Given the description of an element on the screen output the (x, y) to click on. 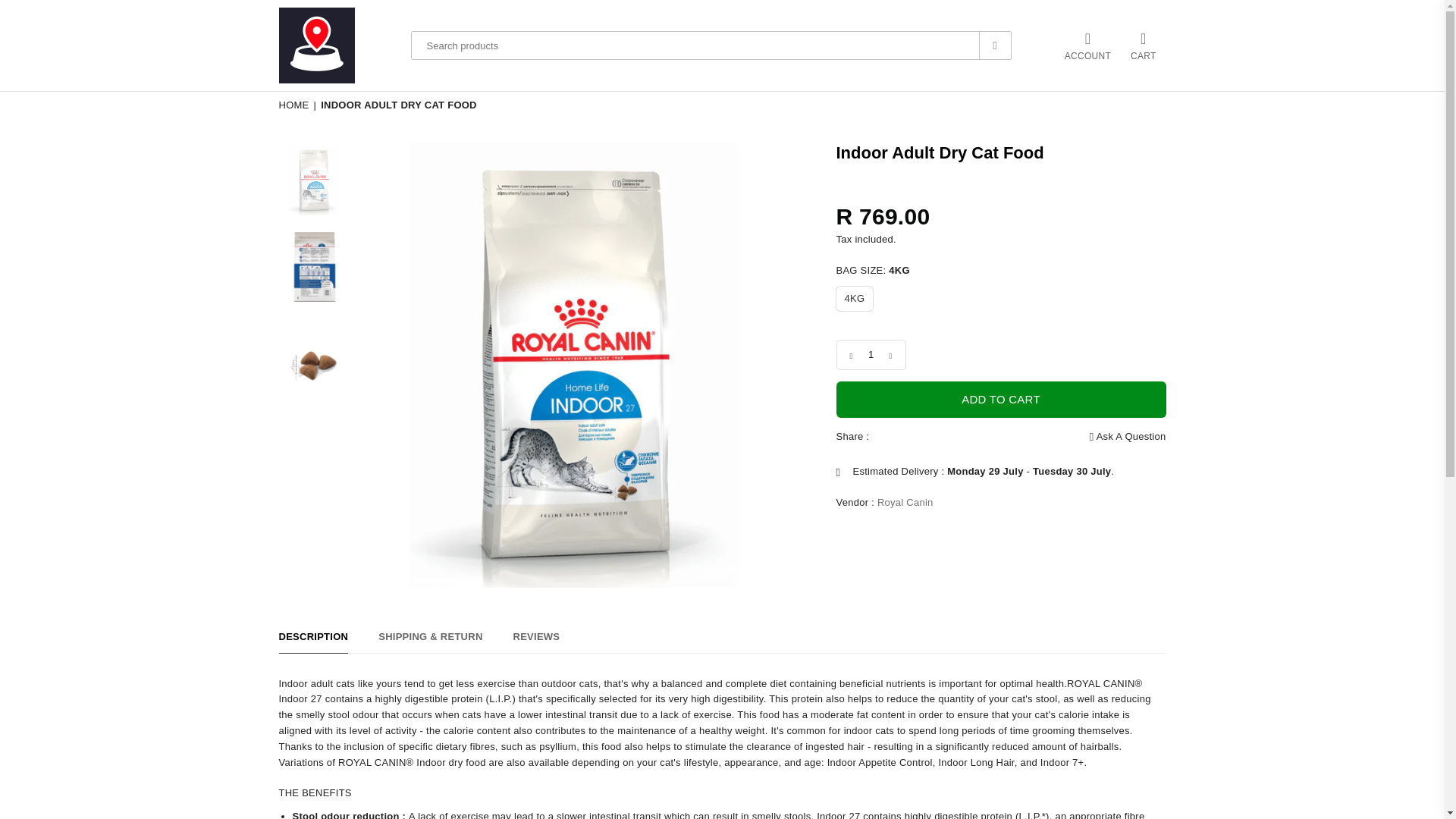
CART (1143, 45)
Royal Canin (905, 501)
Submit (995, 45)
REVIEWS (536, 640)
ADD TO CART (1000, 399)
Logout (1087, 45)
Ask A Question (1127, 437)
CART (1143, 45)
Royal Canin (905, 501)
Quantity (870, 354)
DESCRIPTION (314, 640)
Back to the home page (295, 104)
HOME (295, 104)
THE DOG FOOD APP (328, 45)
ACCOUNT (1087, 45)
